Given the description of an element on the screen output the (x, y) to click on. 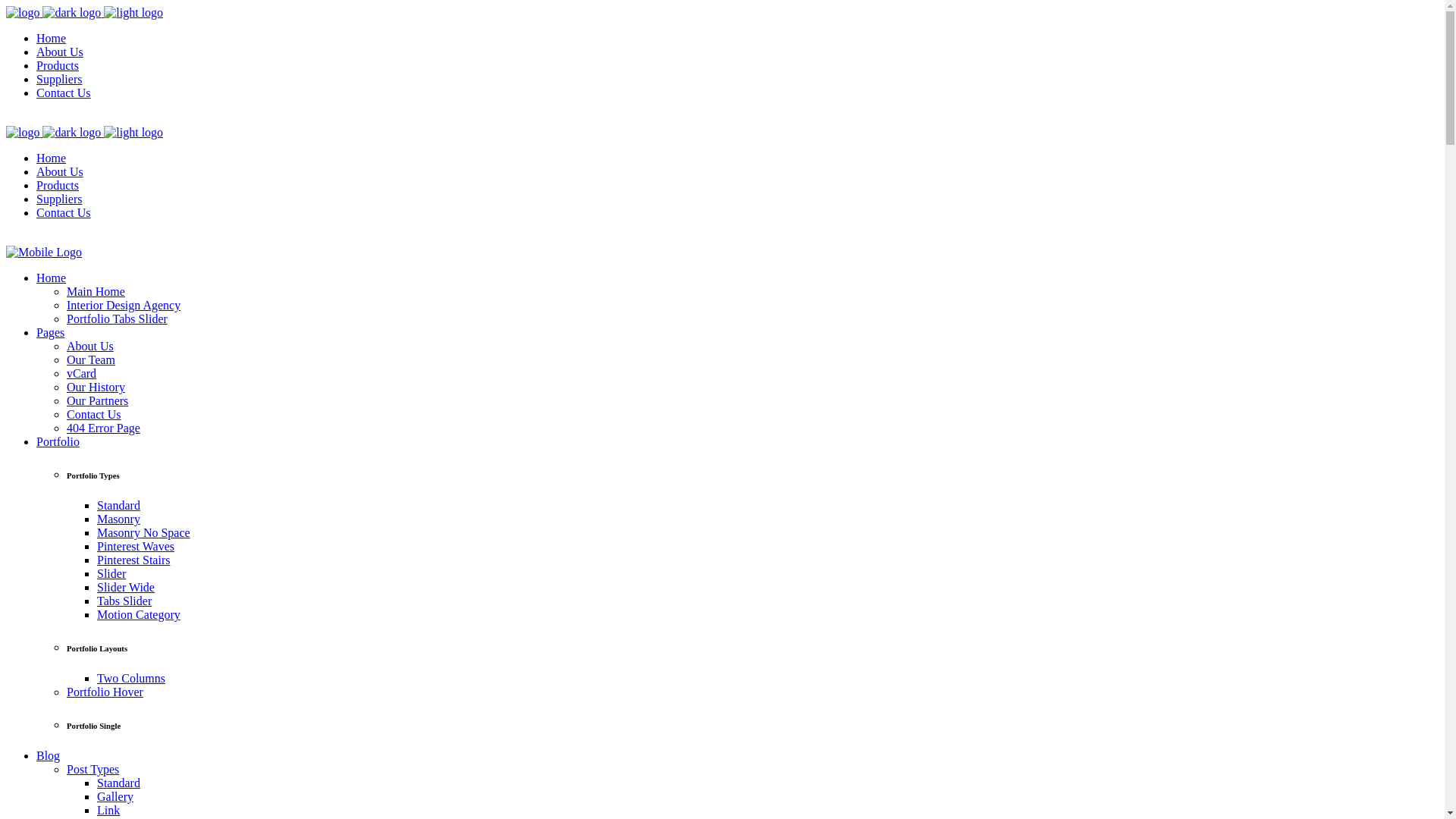
About Us Element type: text (59, 51)
Home Element type: text (50, 157)
Our History Element type: text (95, 386)
Post Types Element type: text (92, 768)
Portfolio Element type: text (57, 441)
Standard Element type: text (118, 782)
vCard Element type: text (81, 373)
About Us Element type: text (59, 171)
Standard Element type: text (118, 504)
Suppliers Element type: text (58, 78)
Gallery Element type: text (115, 796)
Tabs Slider Element type: text (124, 600)
Contact Us Element type: text (63, 92)
404 Error Page Element type: text (103, 427)
Masonry No Space Element type: text (143, 532)
Products Element type: text (57, 184)
Products Element type: text (57, 65)
Masonry Element type: text (118, 518)
Main Home Element type: text (95, 291)
Interior Design Agency Element type: text (123, 304)
Our Team Element type: text (90, 359)
Home Element type: text (50, 277)
Link Element type: text (108, 809)
Home Element type: text (50, 37)
Two Columns Element type: text (131, 677)
Suppliers Element type: text (58, 198)
About Us Element type: text (89, 345)
Portfolio Hover Element type: text (104, 691)
Contact Us Element type: text (63, 212)
Slider Wide Element type: text (125, 586)
Motion Category Element type: text (138, 614)
Pages Element type: text (50, 332)
Pinterest Waves Element type: text (135, 545)
Our Partners Element type: text (97, 400)
Contact Us Element type: text (93, 413)
Pinterest Stairs Element type: text (133, 559)
Blog Element type: text (47, 755)
Slider Element type: text (111, 573)
Portfolio Tabs Slider Element type: text (116, 318)
